Given the description of an element on the screen output the (x, y) to click on. 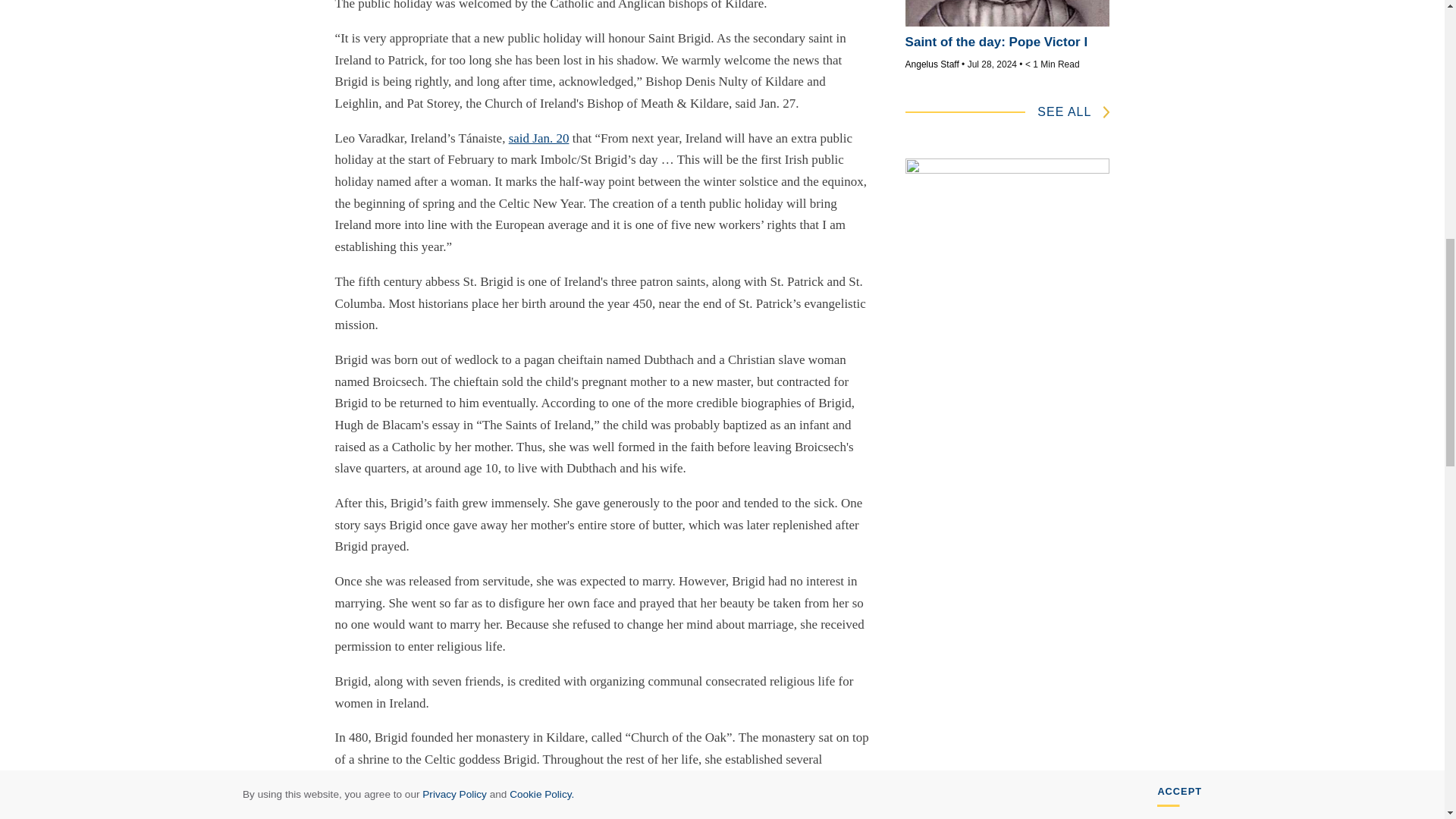
Posts by Angelus Staff (932, 63)
